Given the description of an element on the screen output the (x, y) to click on. 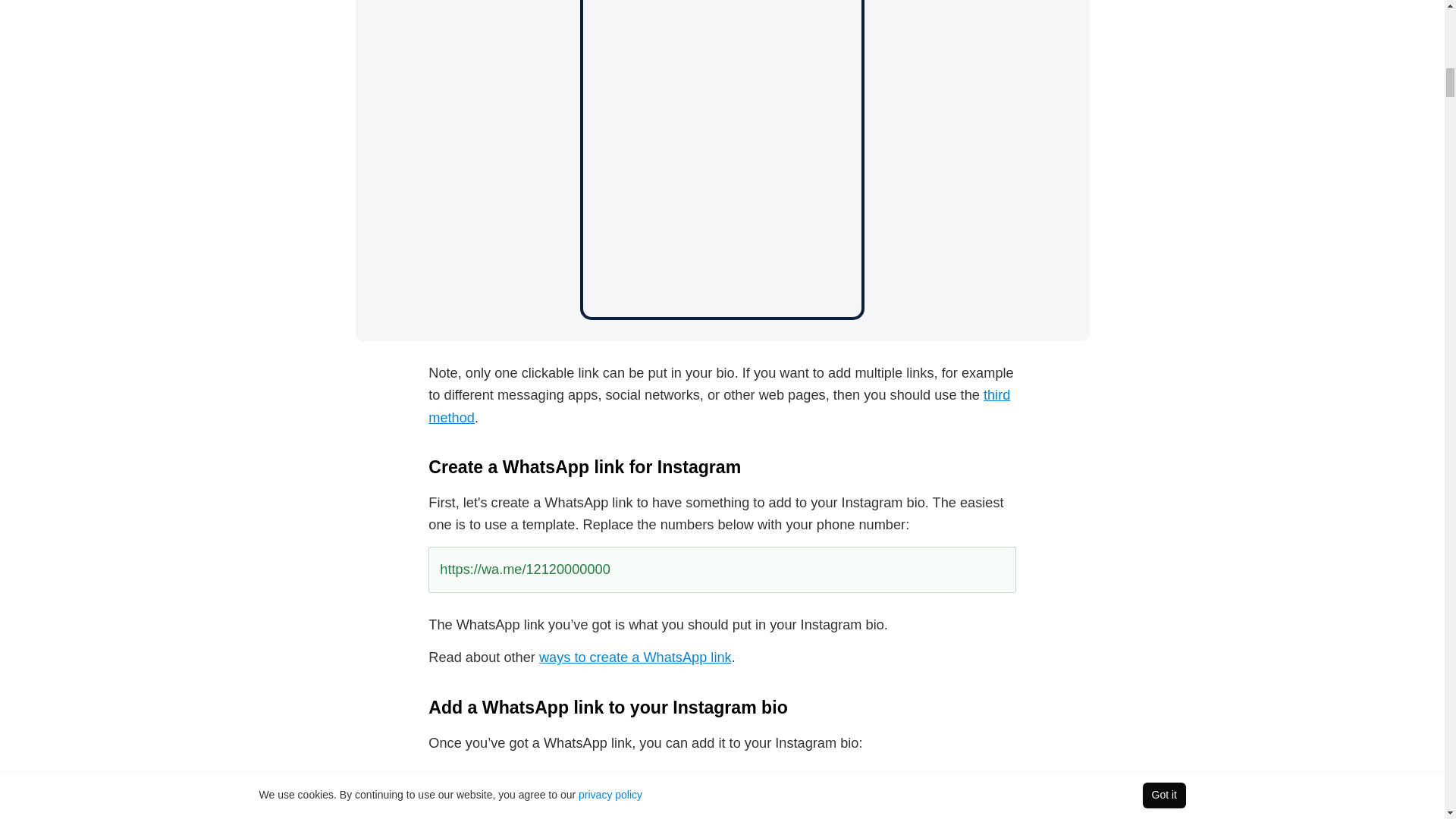
third method (719, 406)
ways to create a WhatsApp link (635, 657)
